Given the description of an element on the screen output the (x, y) to click on. 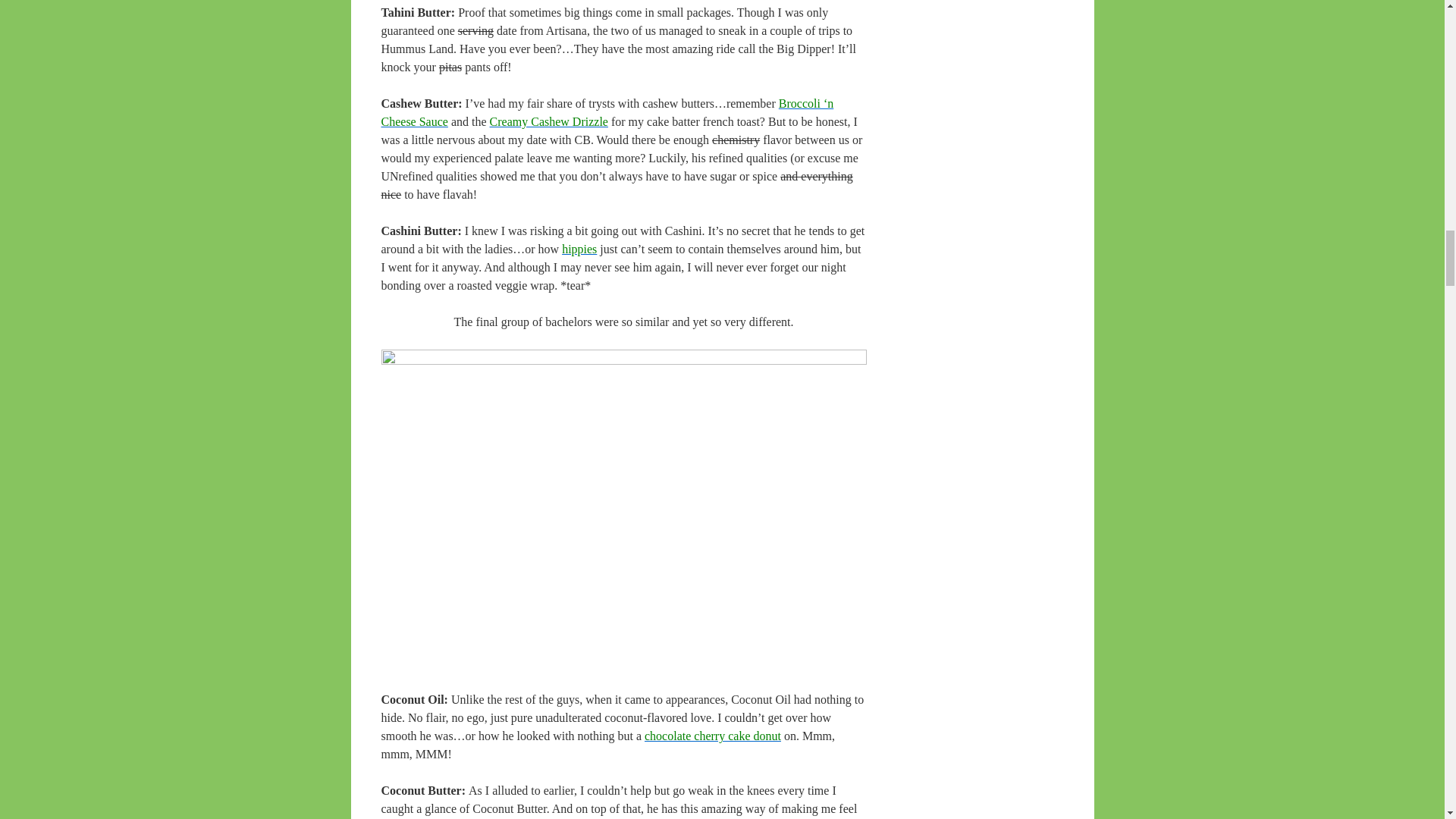
chocolate cherry cake donut (712, 735)
Creamy Cashew Drizzle (548, 121)
hippies (579, 248)
